Given the description of an element on the screen output the (x, y) to click on. 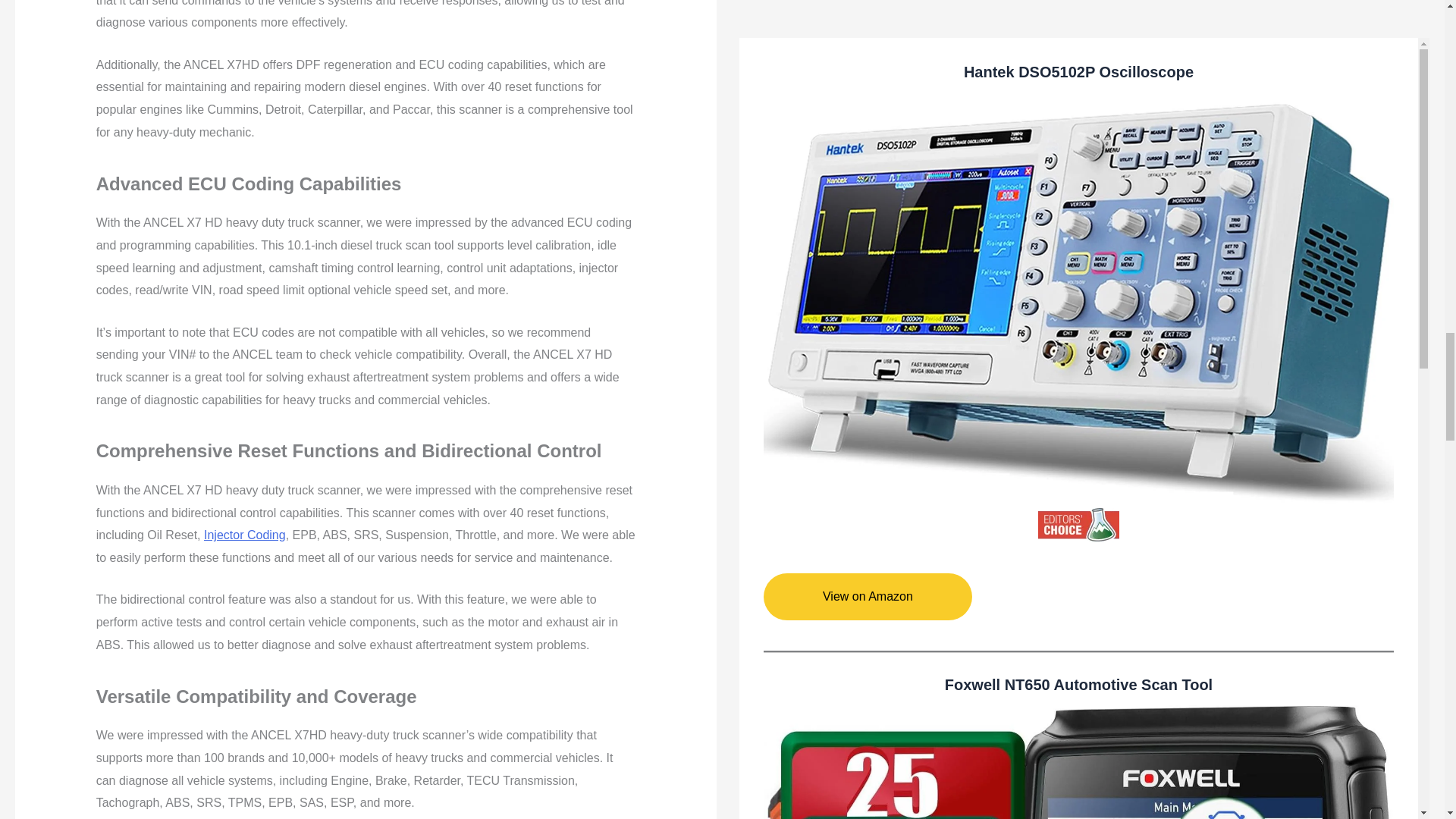
Injector Coding (244, 534)
